Given the description of an element on the screen output the (x, y) to click on. 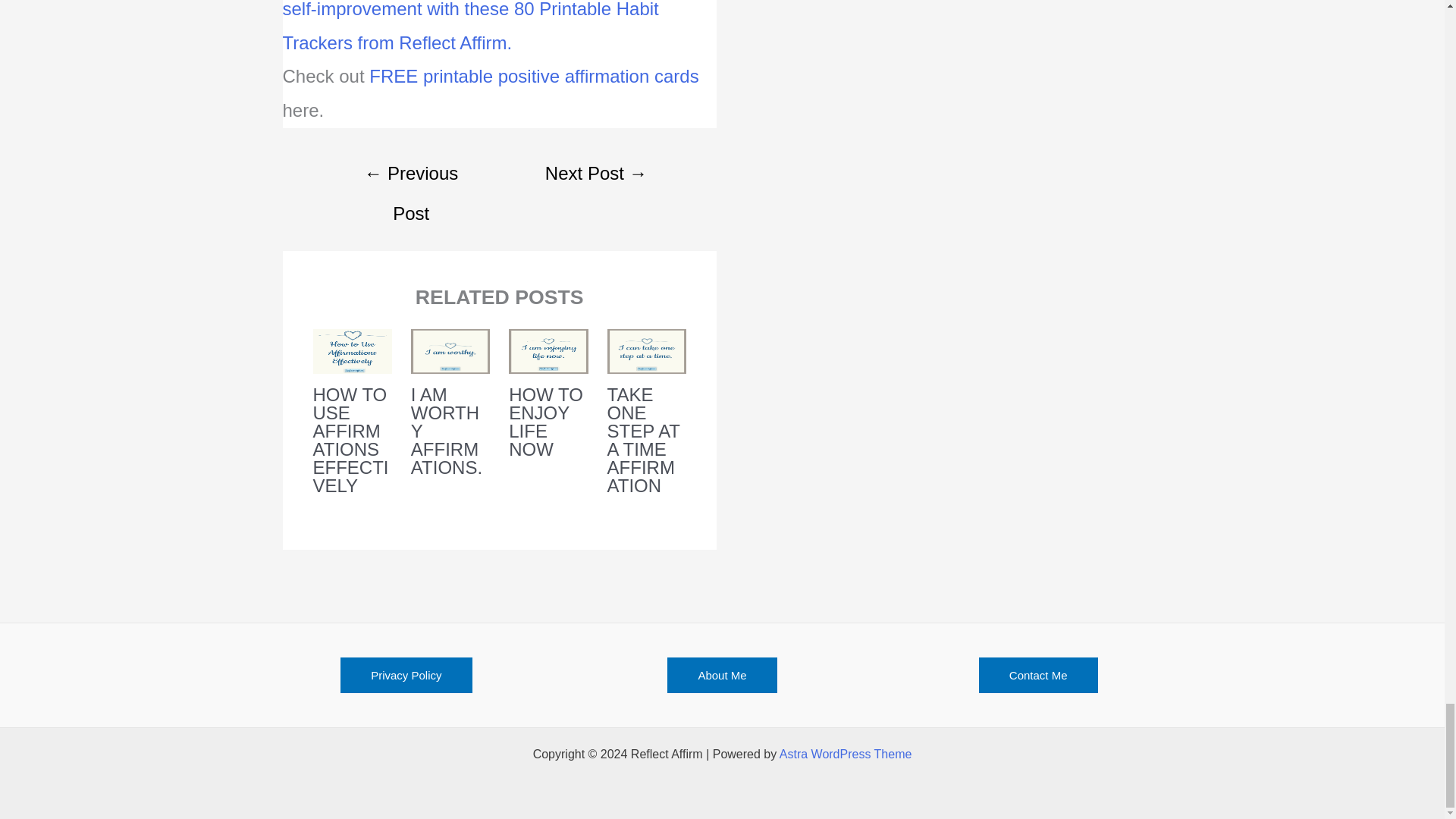
How to Improve Happiness (410, 174)
Challenges Help You Grow (596, 174)
FREE printable positive affirmation cards (533, 76)
